Given the description of an element on the screen output the (x, y) to click on. 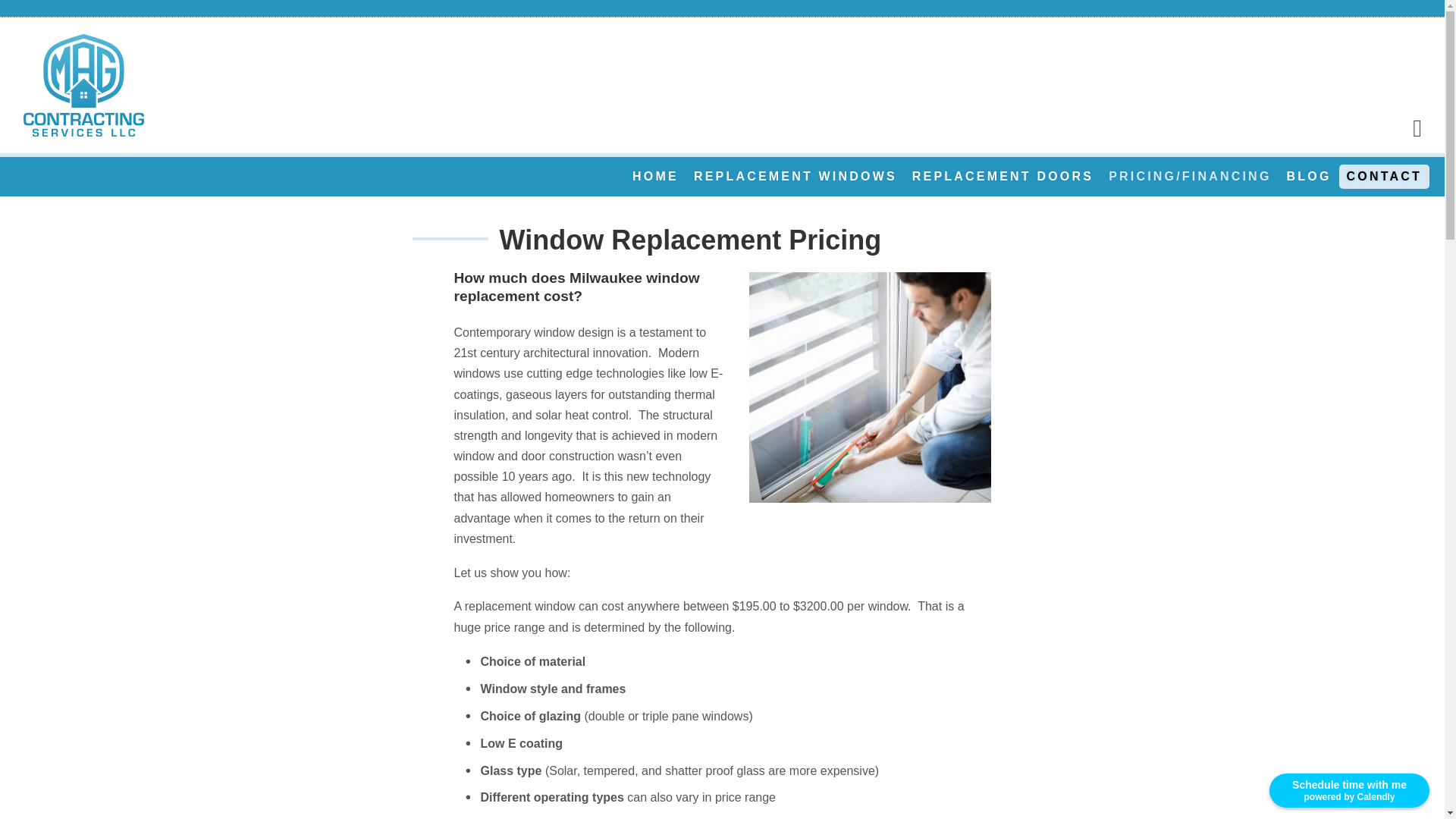
CONTACT (1384, 176)
BLOG (1309, 176)
REPLACEMENT DOORS (1002, 176)
HOME (654, 176)
REPLACEMENT WINDOWS (794, 176)
